Given the description of an element on the screen output the (x, y) to click on. 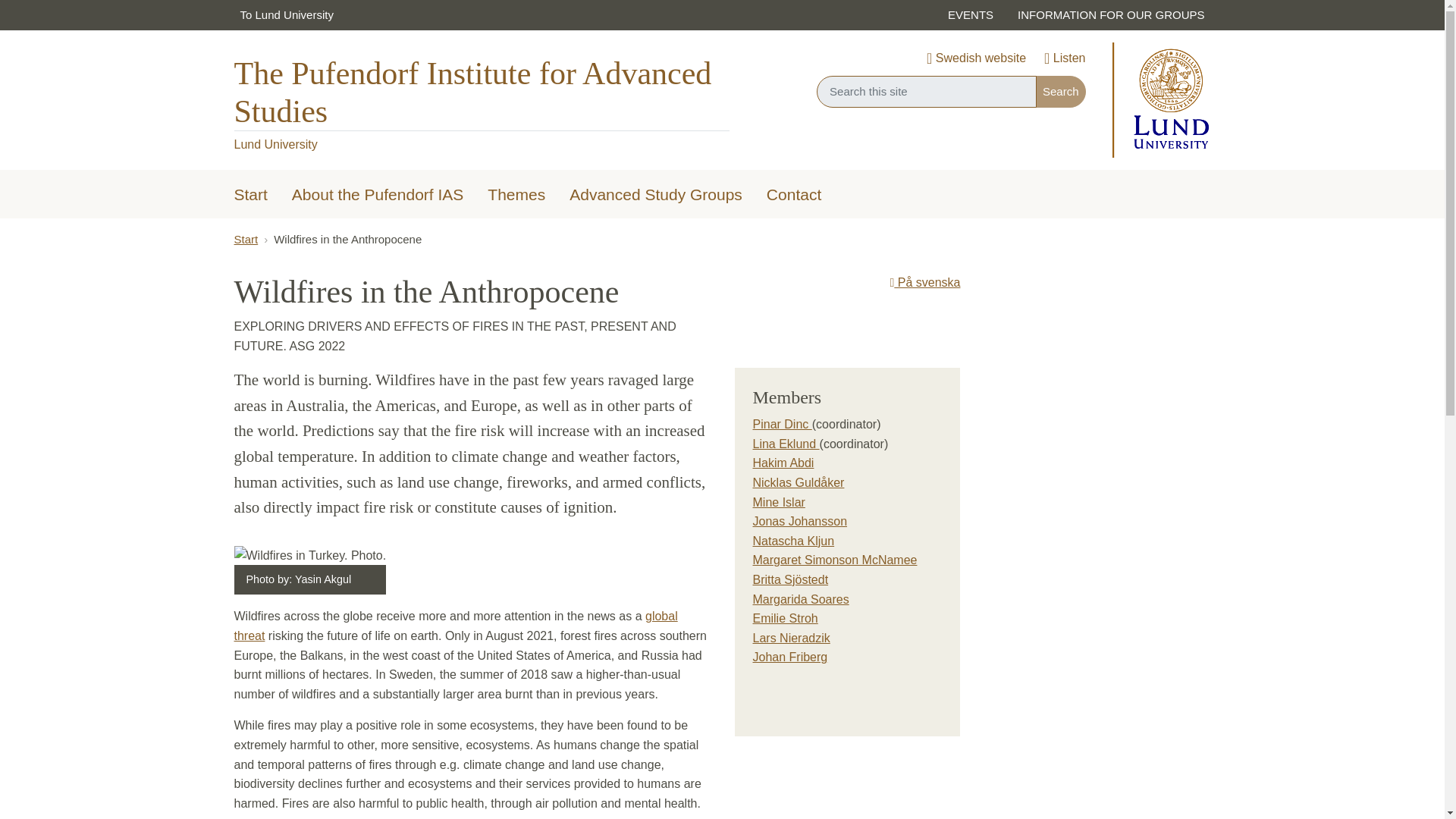
To Lund University (286, 15)
INFORMATION FOR OUR GROUPS (1110, 15)
EVENTS (971, 15)
About the Pufendorf IAS (377, 195)
The Pufendorf Institute for Advanced Studies (480, 92)
Swedish website (976, 59)
Search (1060, 91)
Listen (1063, 59)
Contact (793, 195)
Search (1060, 91)
Advanced Study Groups (655, 195)
Themes (516, 195)
Start (250, 195)
